Given the description of an element on the screen output the (x, y) to click on. 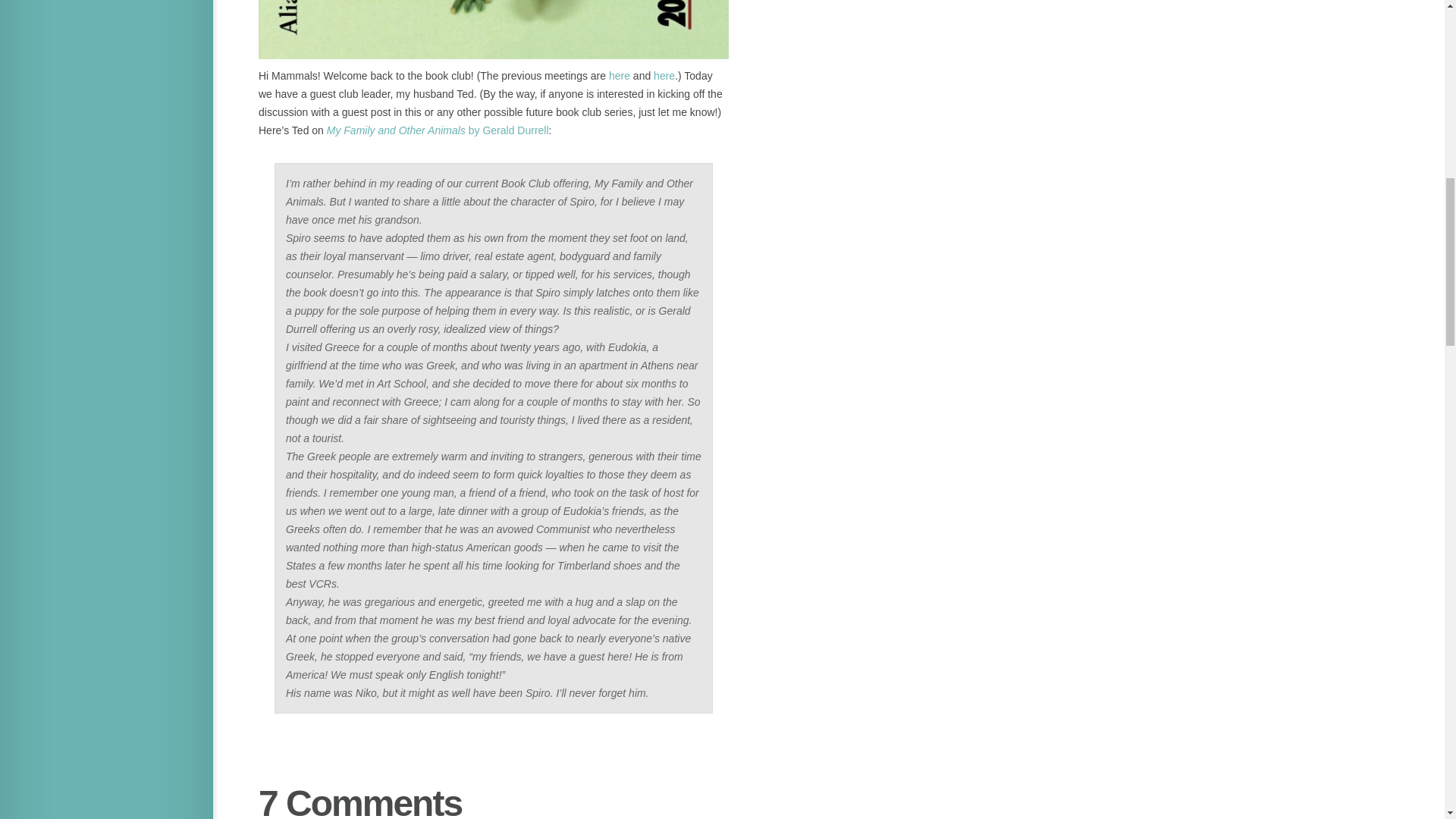
here (619, 75)
My Family and Other Animals by Gerald Durrell (437, 130)
here (664, 75)
